Given the description of an element on the screen output the (x, y) to click on. 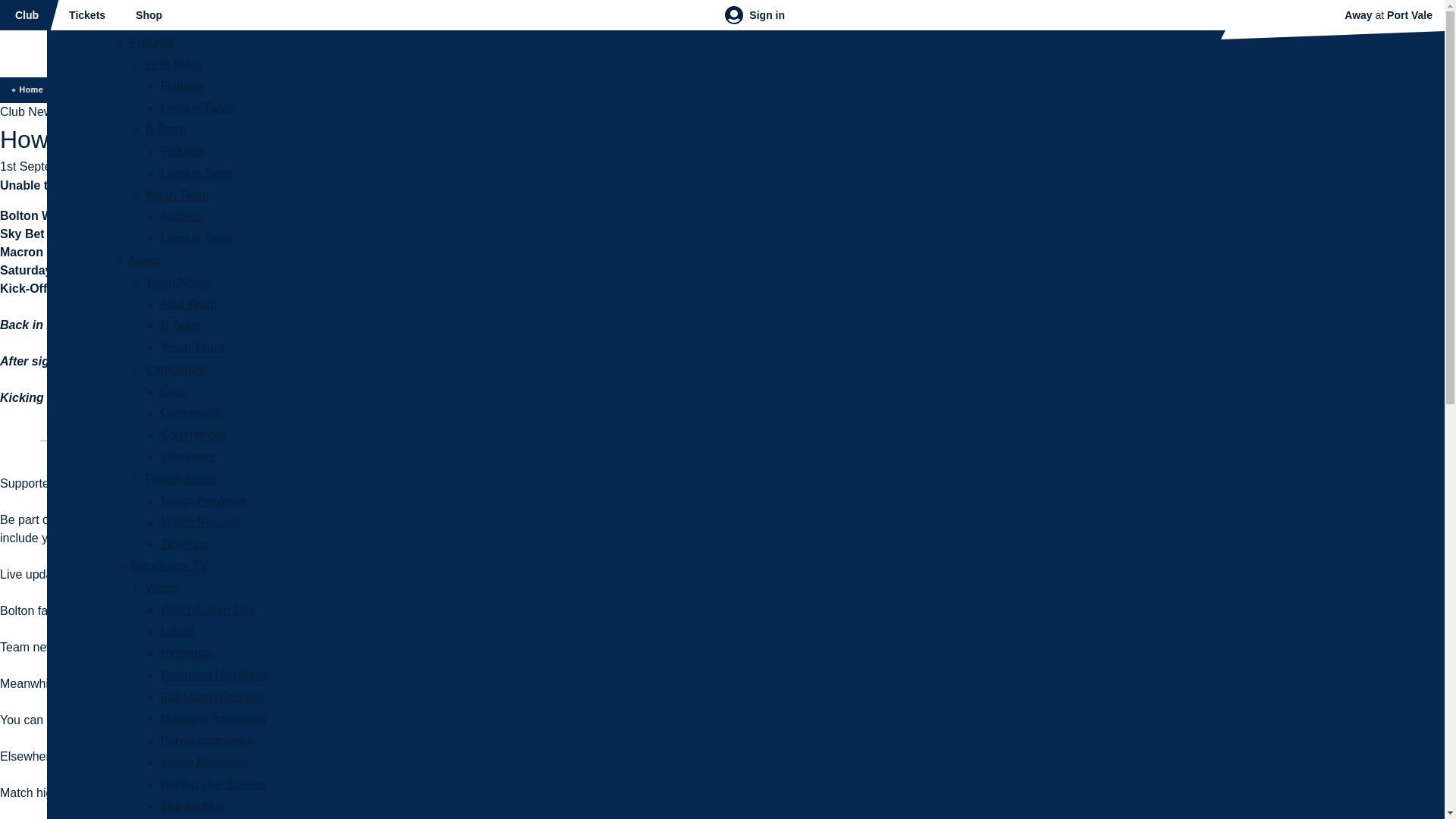
Watch (162, 587)
Commercial (192, 434)
Fixtures (181, 215)
Community (191, 412)
Fixtures (181, 151)
Club (173, 391)
Club (26, 15)
League Table (196, 237)
League Table (196, 237)
Latest (176, 631)
Commercial (192, 434)
Fixtures (181, 151)
First Team (173, 63)
Sign in (754, 15)
B Team (165, 128)
